Given the description of an element on the screen output the (x, y) to click on. 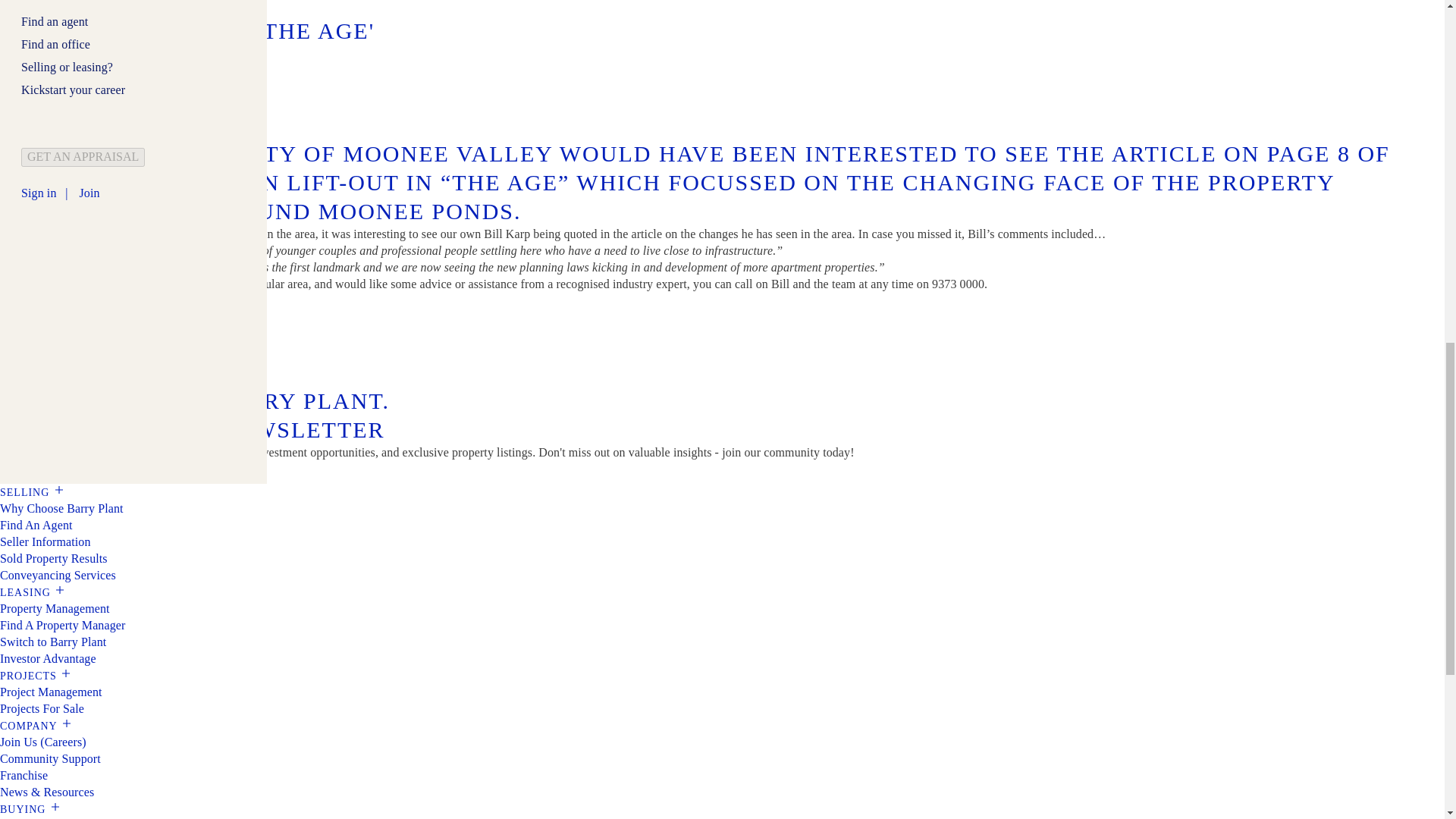
Sold Property Results (53, 558)
Why Choose Barry Plant (61, 508)
Find An Agent (36, 524)
News (17, 7)
subscribe (36, 472)
Seller Information (45, 541)
